Given the description of an element on the screen output the (x, y) to click on. 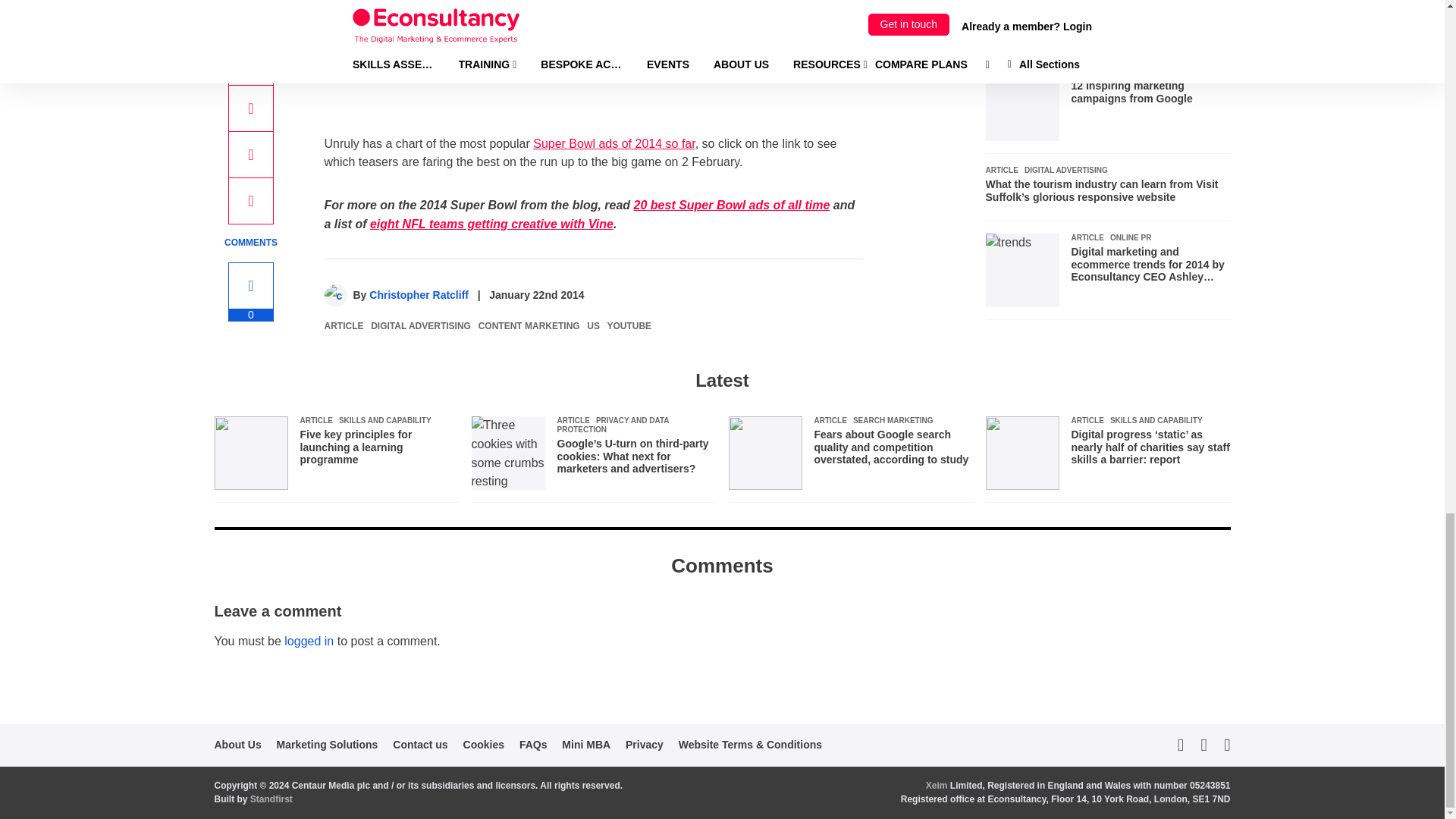
Posts by Christopher Ratcliff (418, 295)
